Given the description of an element on the screen output the (x, y) to click on. 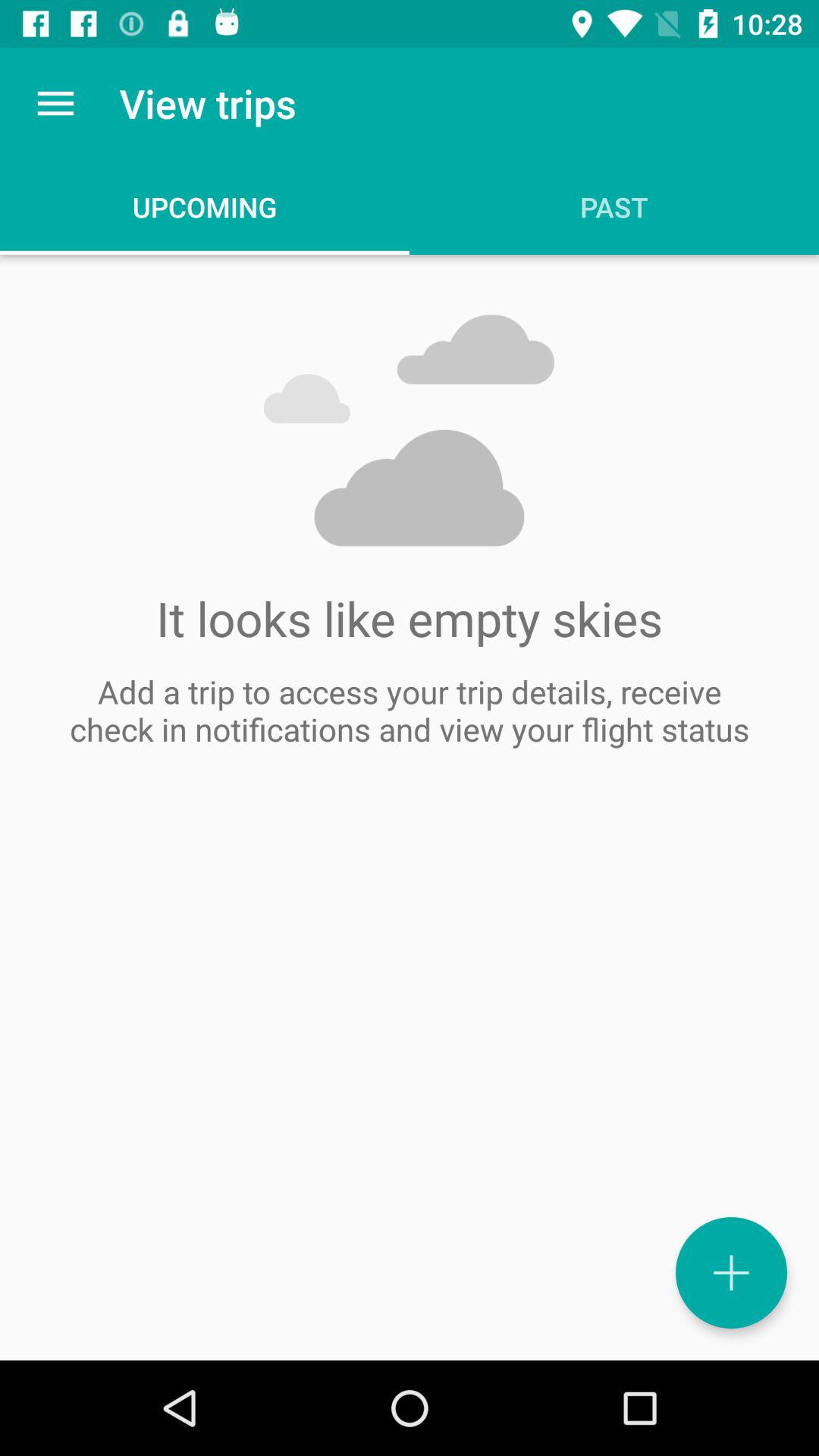
select the app to the left of the view trips item (55, 103)
